Given the description of an element on the screen output the (x, y) to click on. 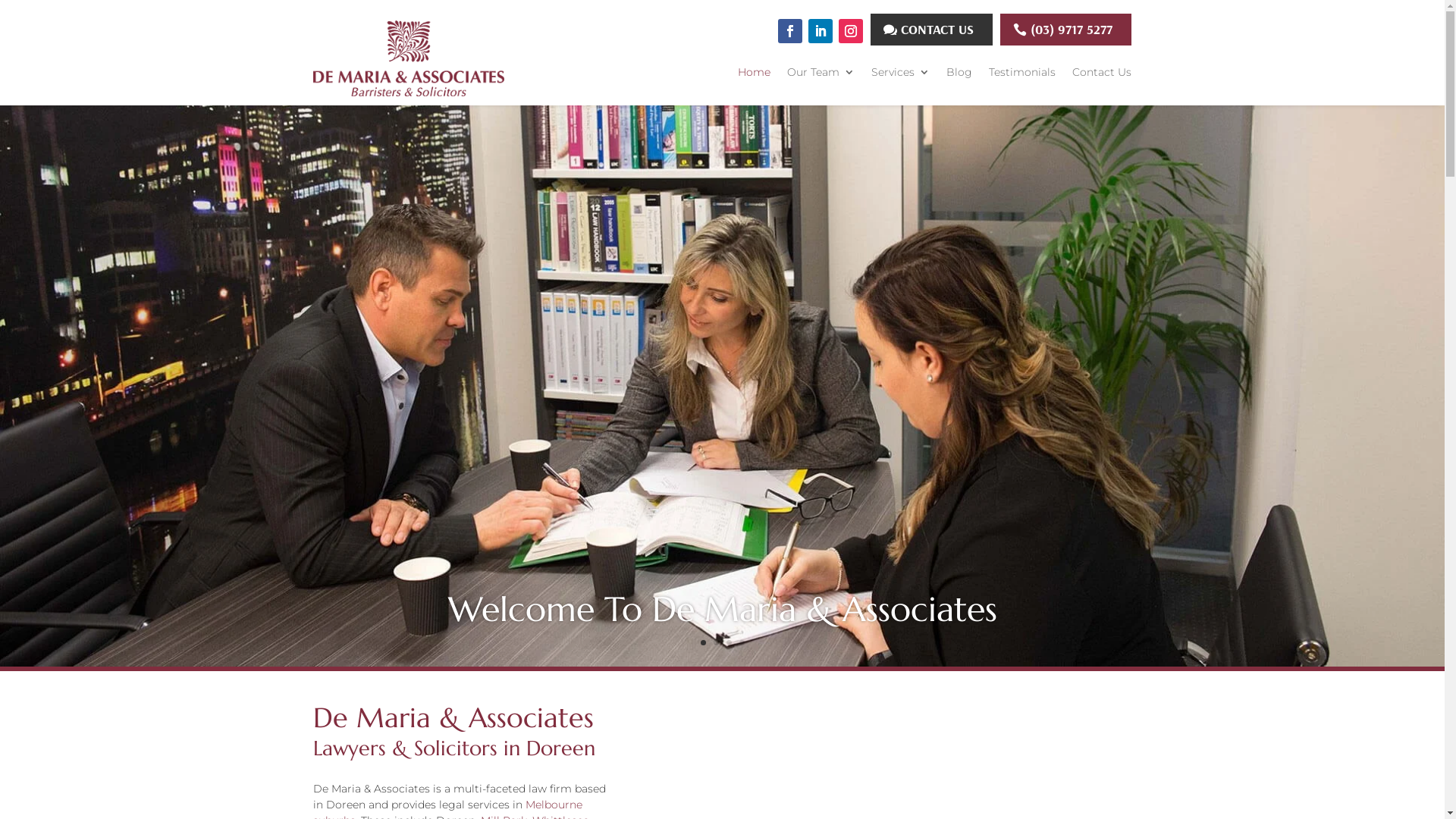
Home Element type: text (753, 74)
4 Element type: text (740, 642)
Our Team Element type: text (820, 74)
Follow on LinkedIn Element type: hover (820, 30)
3 Element type: text (728, 642)
Follow on Instagram Element type: hover (850, 30)
(03) 9717 5277 Element type: text (1065, 28)
Blog Element type: text (959, 74)
1 Element type: text (703, 642)
Lawyer Doreen Element type: hover (722, 662)
CONTACT US Element type: text (931, 28)
Follow on Facebook Element type: hover (790, 30)
2 Element type: text (715, 642)
Contact Us Element type: text (1101, 74)
Services Element type: text (900, 74)
Testimonials Element type: text (1021, 74)
